Given the description of an element on the screen output the (x, y) to click on. 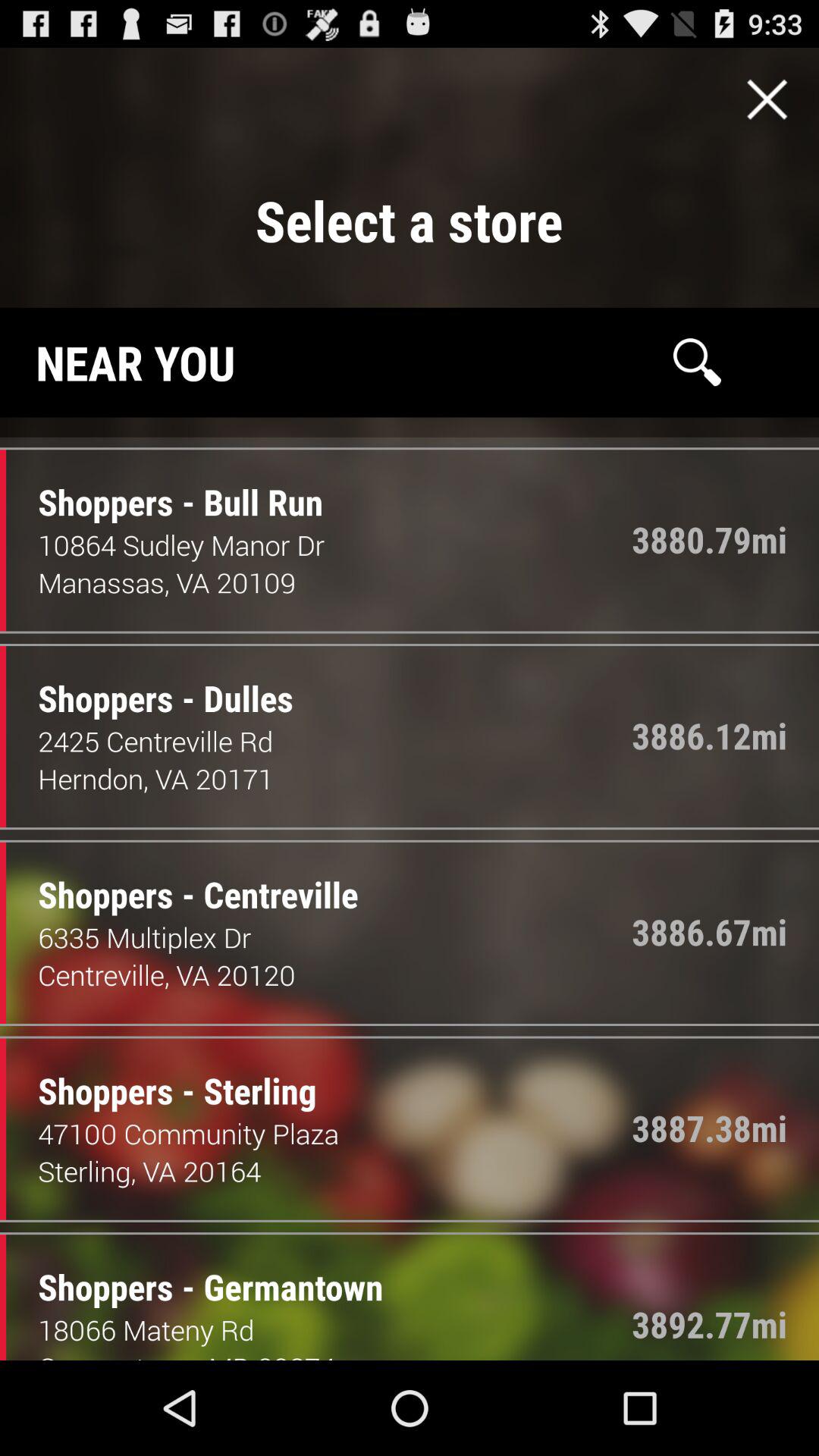
scroll to shoppers - dulles  icon (154, 682)
